Given the description of an element on the screen output the (x, y) to click on. 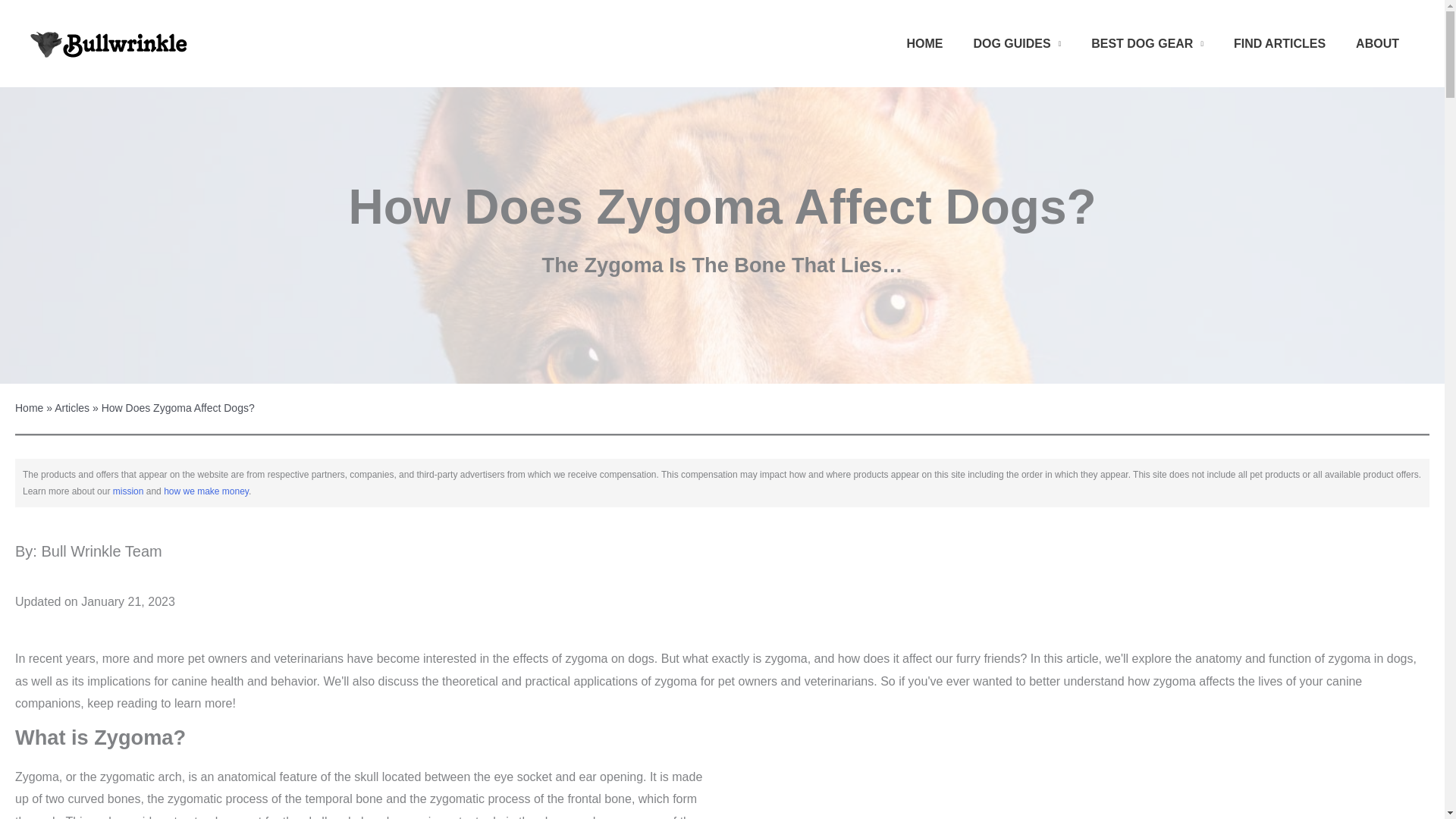
ABOUT (1376, 42)
FIND ARTICLES (1279, 42)
BEST DOG GEAR (1146, 42)
HOME (924, 42)
DOG GUIDES (1016, 42)
